Given the description of an element on the screen output the (x, y) to click on. 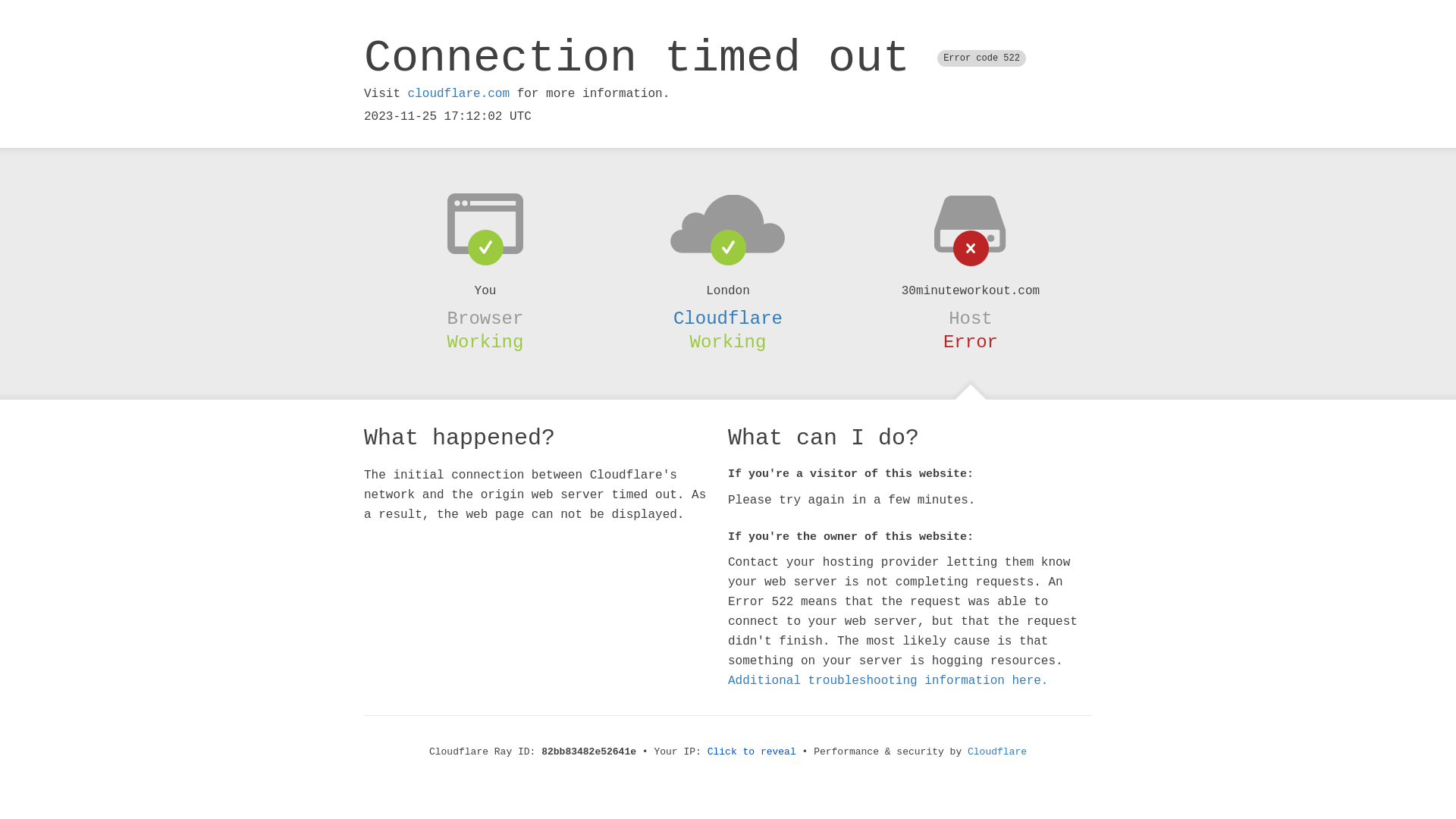
cloudflare.com Element type: text (458, 93)
Cloudflare Element type: text (727, 318)
Additional troubleshooting information here. Element type: text (888, 680)
Cloudflare Element type: text (996, 751)
Click to reveal Element type: text (751, 751)
